Given the description of an element on the screen output the (x, y) to click on. 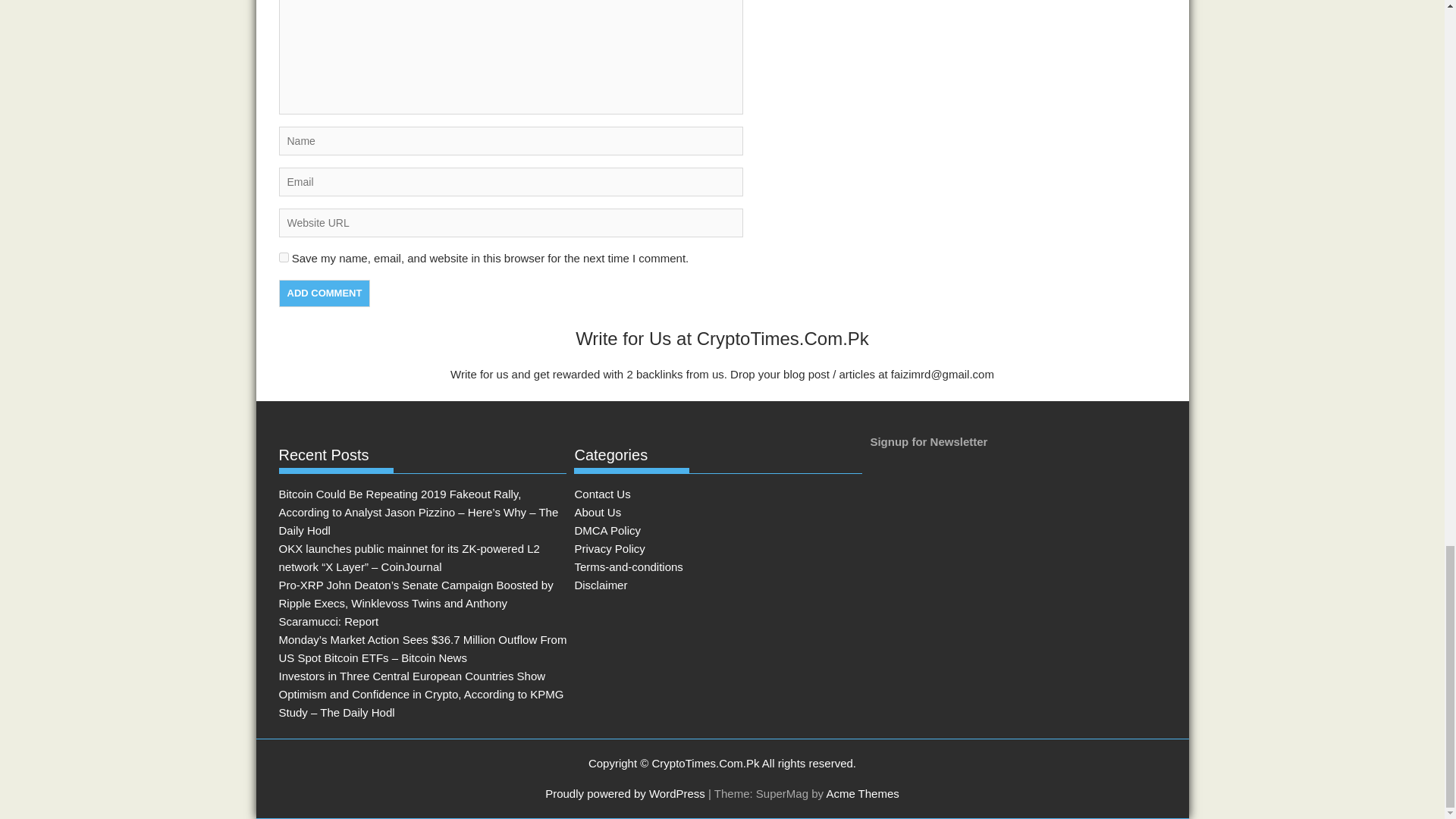
yes (283, 257)
Add Comment (325, 293)
